Given the description of an element on the screen output the (x, y) to click on. 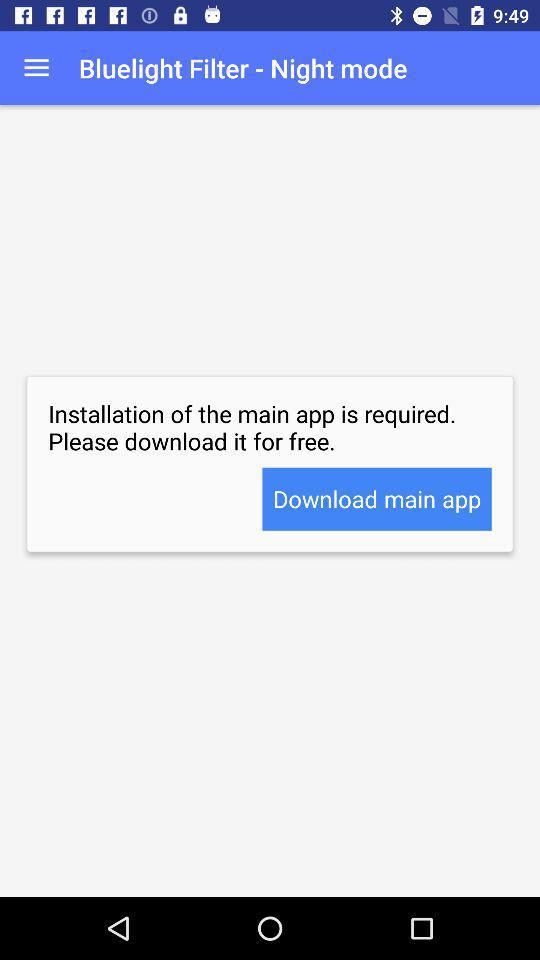
press item to the left of bluelight filter night app (36, 68)
